Given the description of an element on the screen output the (x, y) to click on. 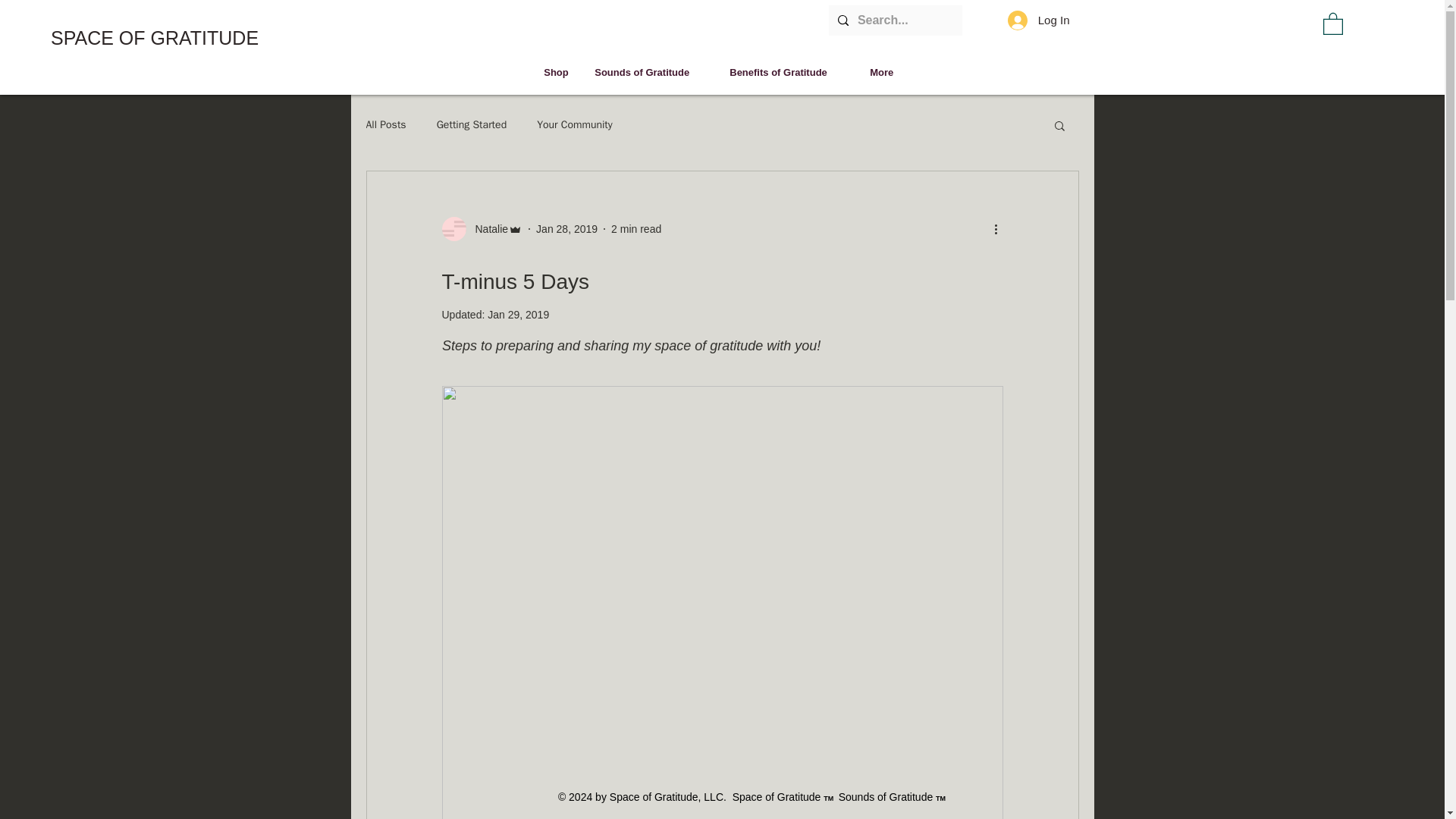
Jan 28, 2019 (565, 228)
SPACE OF GRATITUDE (154, 38)
Log In (1038, 20)
All Posts (385, 124)
Natalie (481, 228)
Natalie (486, 229)
Your Community (574, 124)
2 min read (636, 228)
Getting Started (471, 124)
Jan 29, 2019 (517, 314)
Sounds of Gratitude (650, 72)
Shop (557, 72)
Benefits of Gratitude (788, 72)
